Given the description of an element on the screen output the (x, y) to click on. 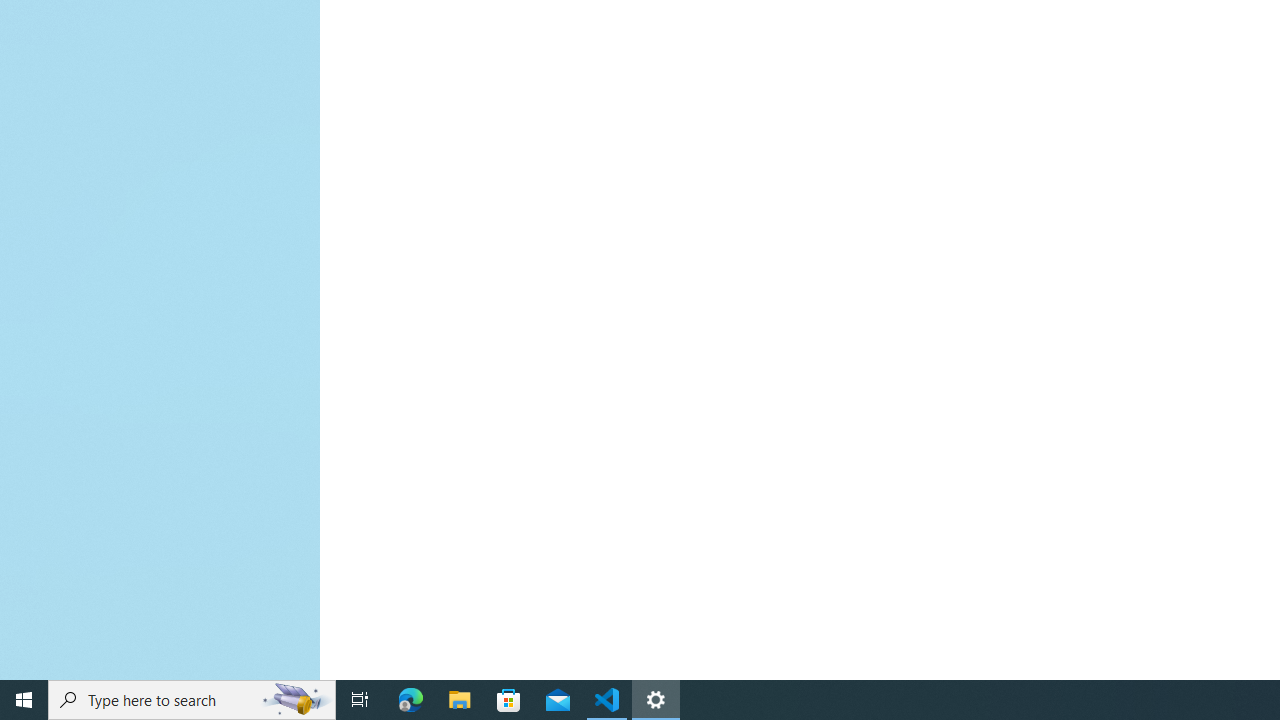
Visual Studio Code - 1 running window (607, 699)
Type here to search (191, 699)
Start (24, 699)
Search highlights icon opens search home window (295, 699)
Microsoft Store (509, 699)
File Explorer (460, 699)
Settings - 1 running window (656, 699)
Microsoft Edge (411, 699)
Task View (359, 699)
